Given the description of an element on the screen output the (x, y) to click on. 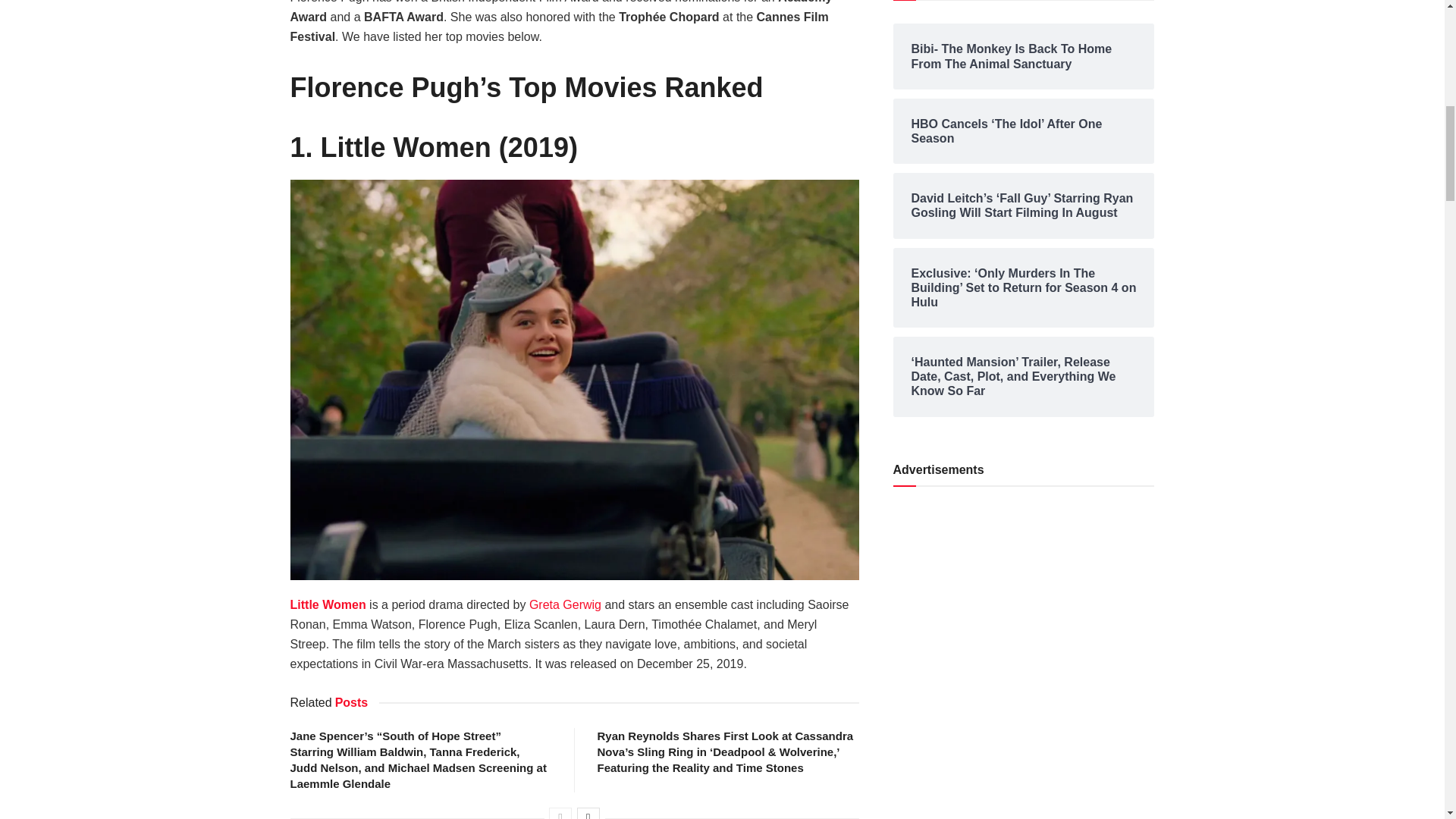
Next (587, 813)
Previous (560, 813)
